Given the description of an element on the screen output the (x, y) to click on. 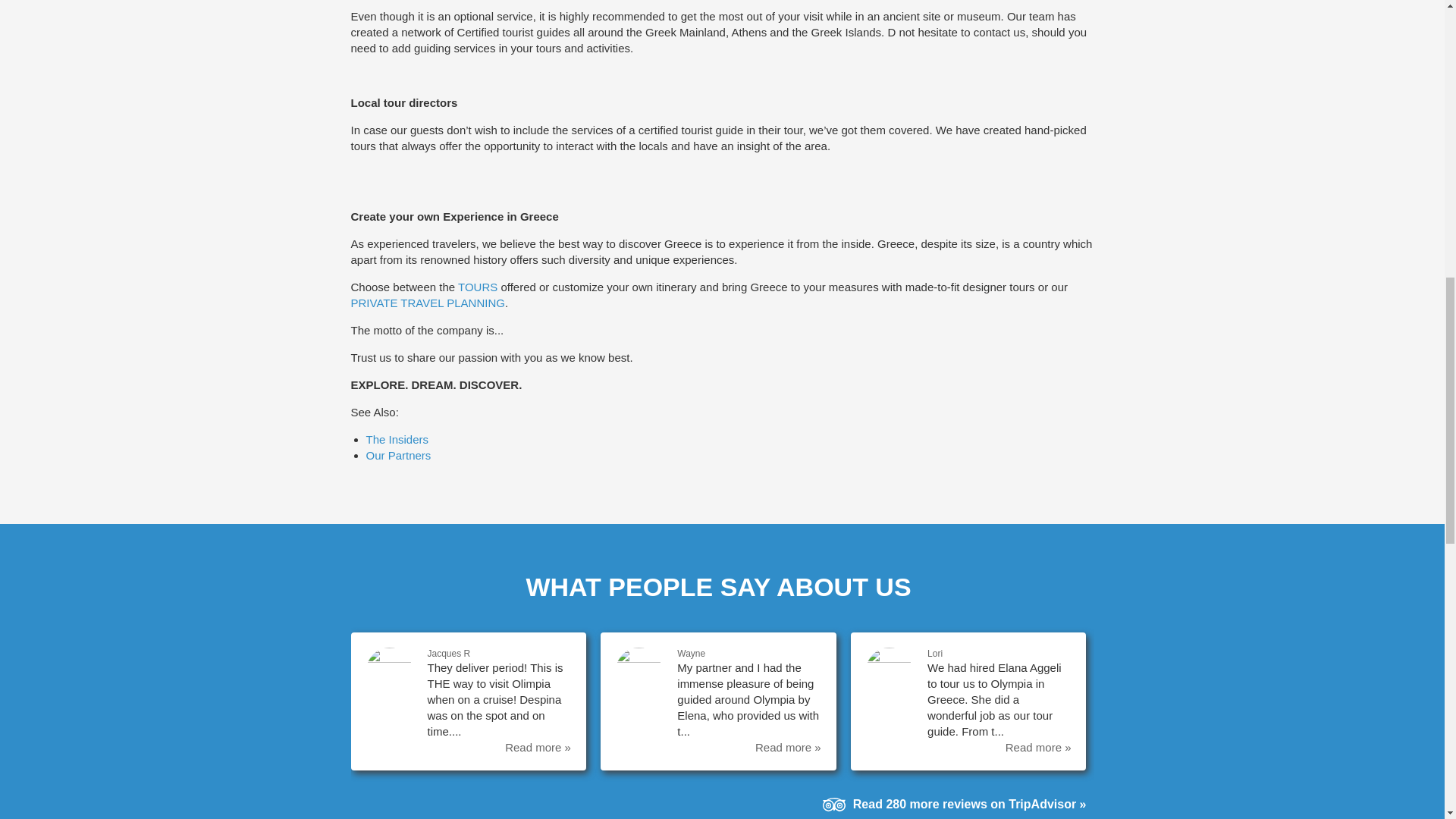
Wayne (690, 653)
TOURS (477, 286)
Lori (934, 653)
Jacques R (449, 653)
The Insiders (396, 439)
PRIVATE TRAVEL PLANNING (426, 302)
Our Partners (397, 454)
The Travel Insiders Tours (477, 286)
